Given the description of an element on the screen output the (x, y) to click on. 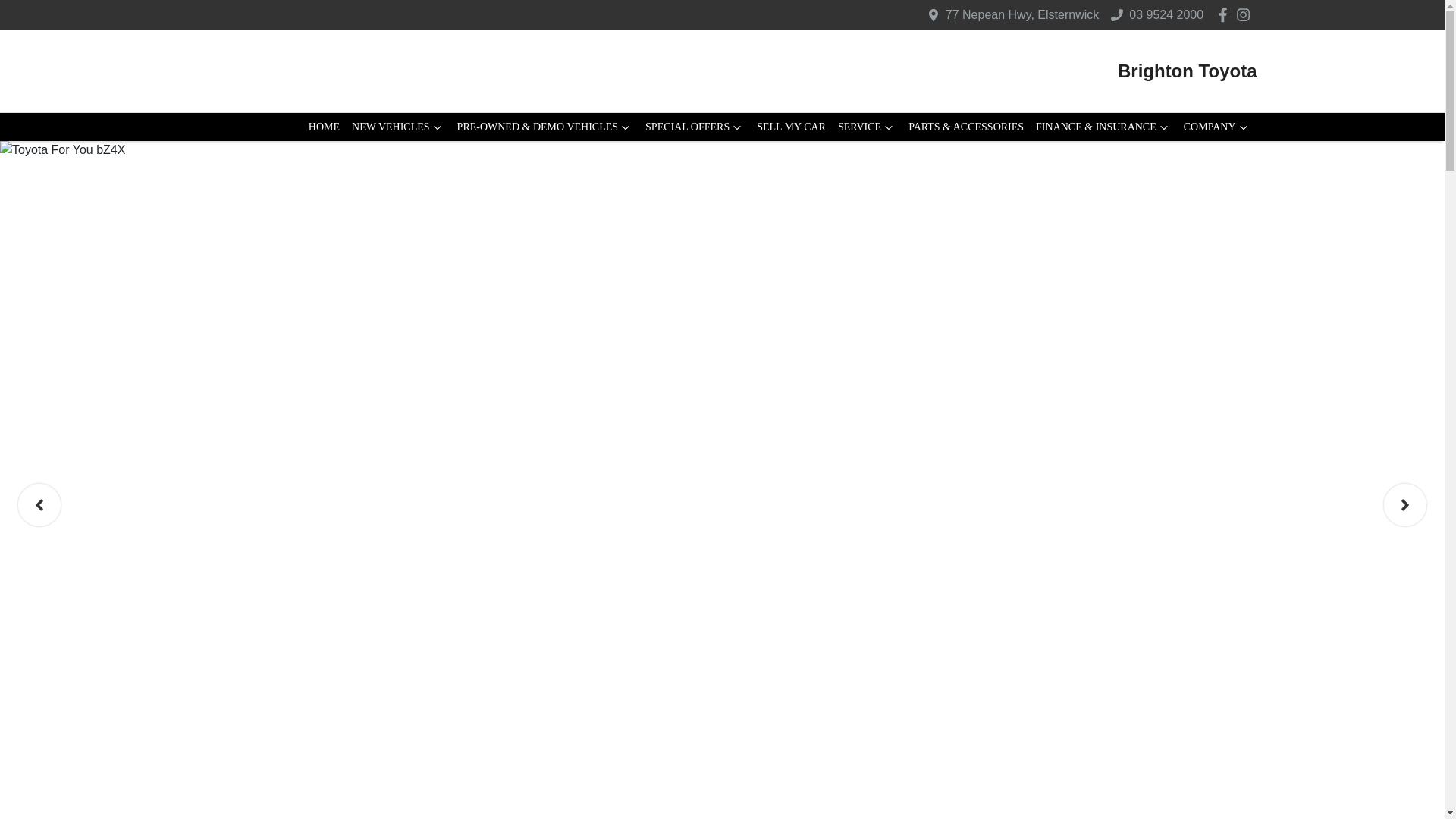
SERVICE (866, 126)
NEW VEHICLES (398, 126)
77 Nepean Hwy, Elsternwick (1021, 14)
COMPANY (1217, 126)
SELL MY CAR (791, 126)
SPECIAL OFFERS (695, 126)
03 9524 2000 (1166, 14)
HOME (324, 126)
Brighton Toyota (1187, 71)
